Given the description of an element on the screen output the (x, y) to click on. 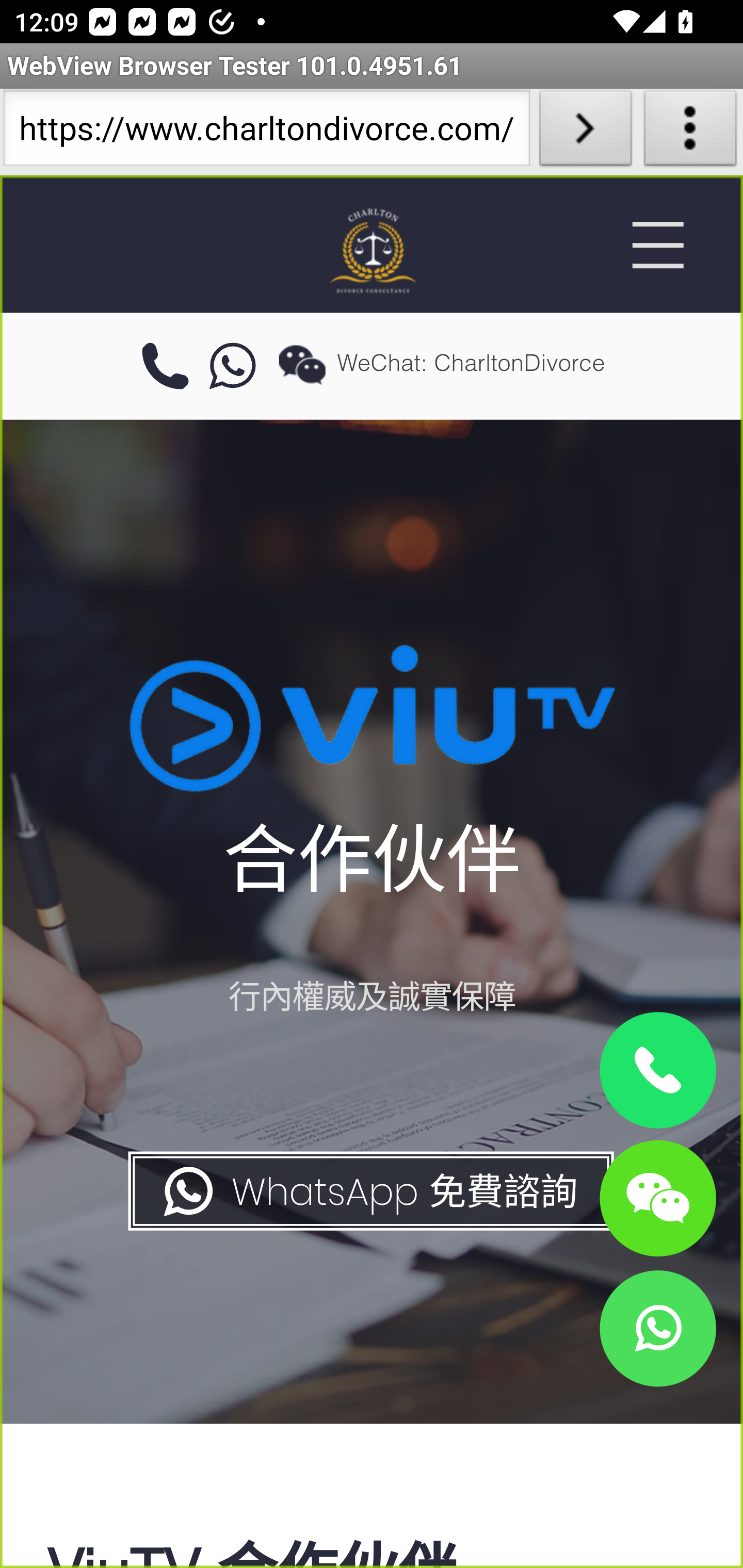
Load URL (585, 132)
About WebView (690, 132)
Open navigation menu (657, 245)
500x500 沒背景.png (371, 249)
tel:+852 9692 7577 (164, 366)
o7rumn (232, 366)
wechat2_edited_edited.png (301, 364)
Phone (657, 1070)
WeChat: CharltonDivorce (657, 1196)
WhatsApp 免費諮詢 (369, 1191)
WhatsApp (657, 1327)
